Given the description of an element on the screen output the (x, y) to click on. 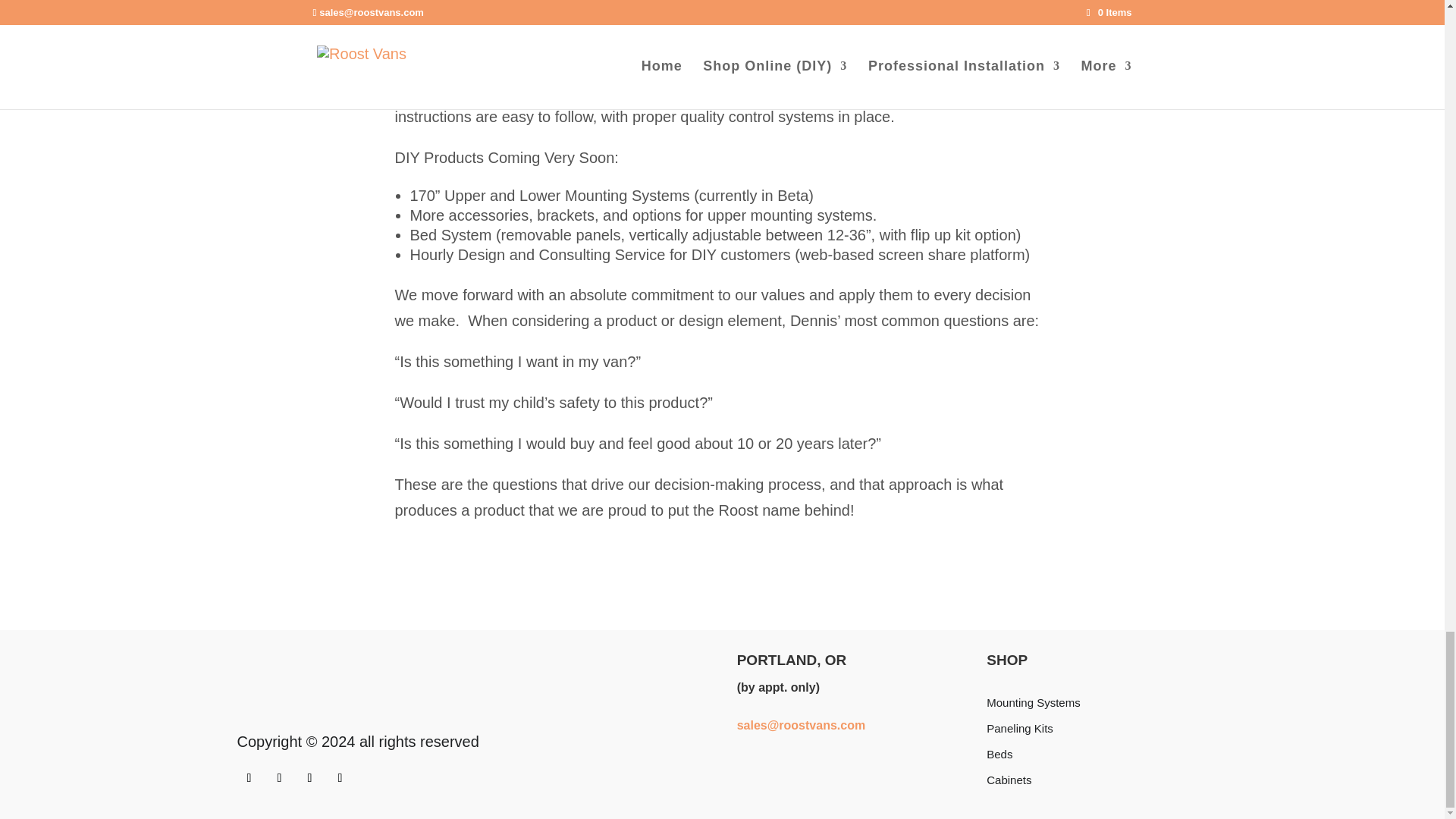
Follow on Facebook (309, 777)
Follow on Youtube (278, 777)
Follow on Pinterest (339, 777)
Follow on Instagram (247, 777)
